Given the description of an element on the screen output the (x, y) to click on. 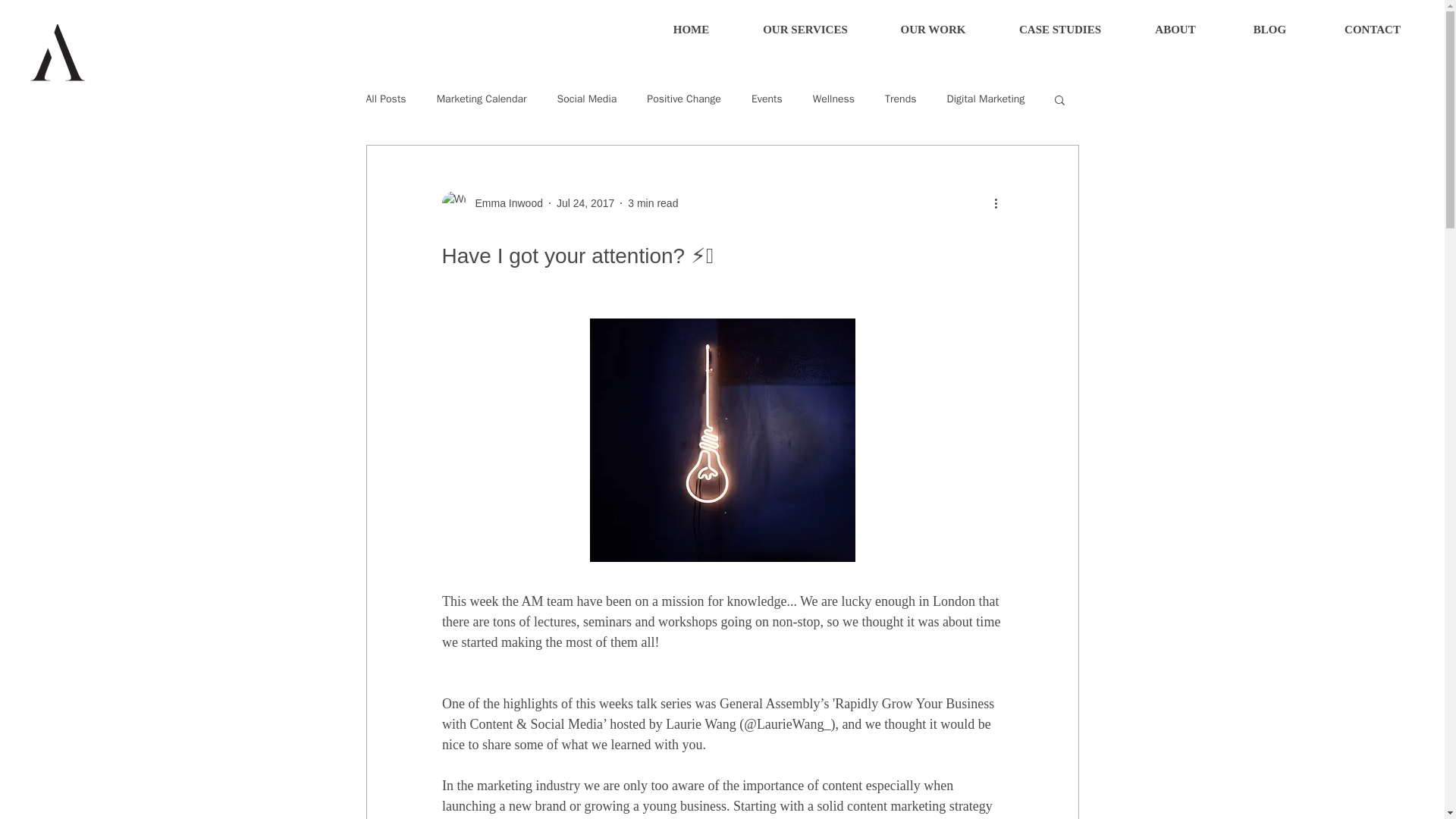
Trends (900, 99)
Wellness (833, 99)
OUR SERVICES (805, 30)
Digital Marketing (985, 99)
Events (767, 99)
Emma Inwood (503, 203)
OUR WORK (932, 30)
All Posts (385, 99)
Positive Change (683, 99)
Marketing Calendar (481, 99)
